Given the description of an element on the screen output the (x, y) to click on. 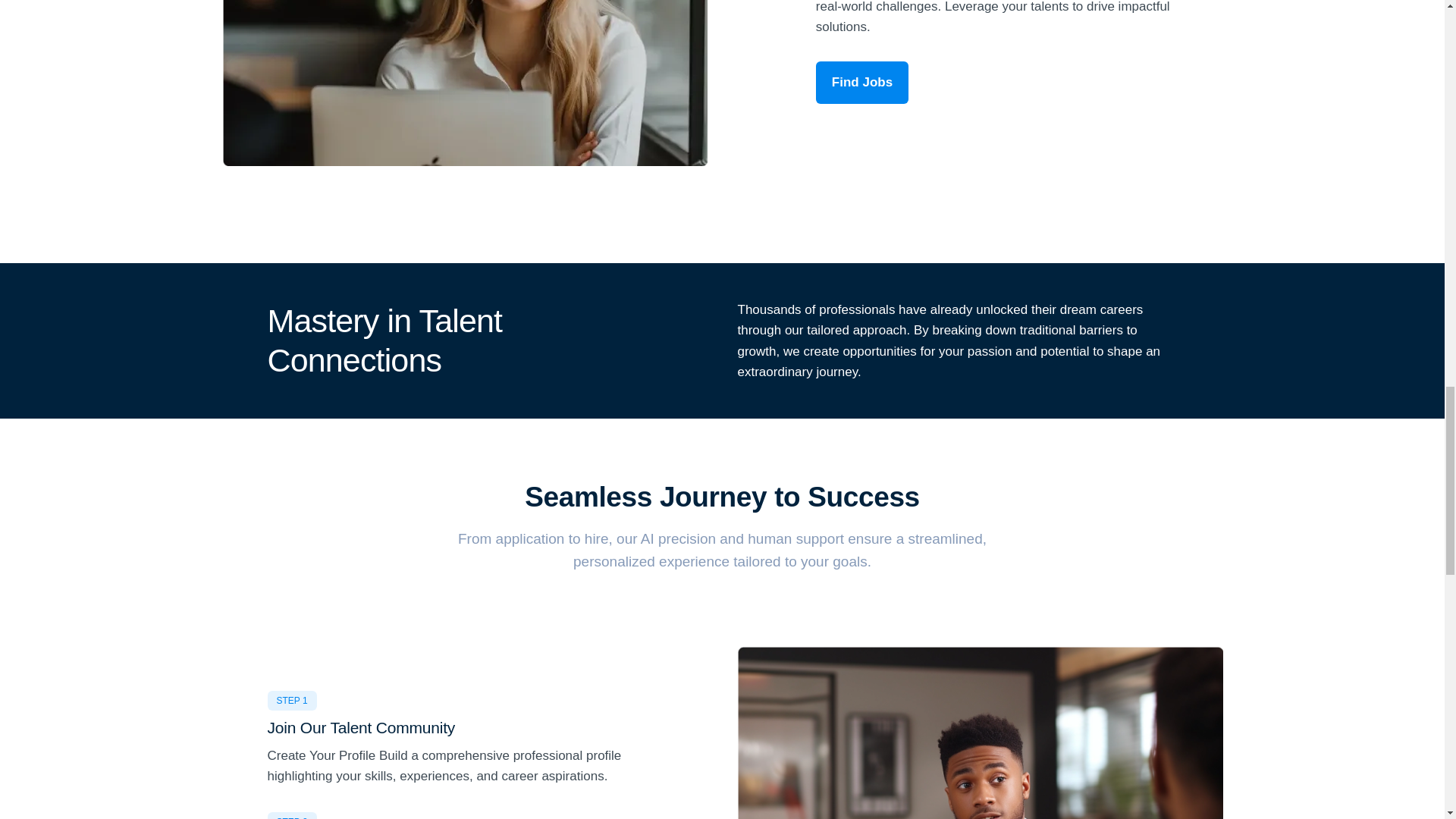
Find Jobs (861, 82)
